Given the description of an element on the screen output the (x, y) to click on. 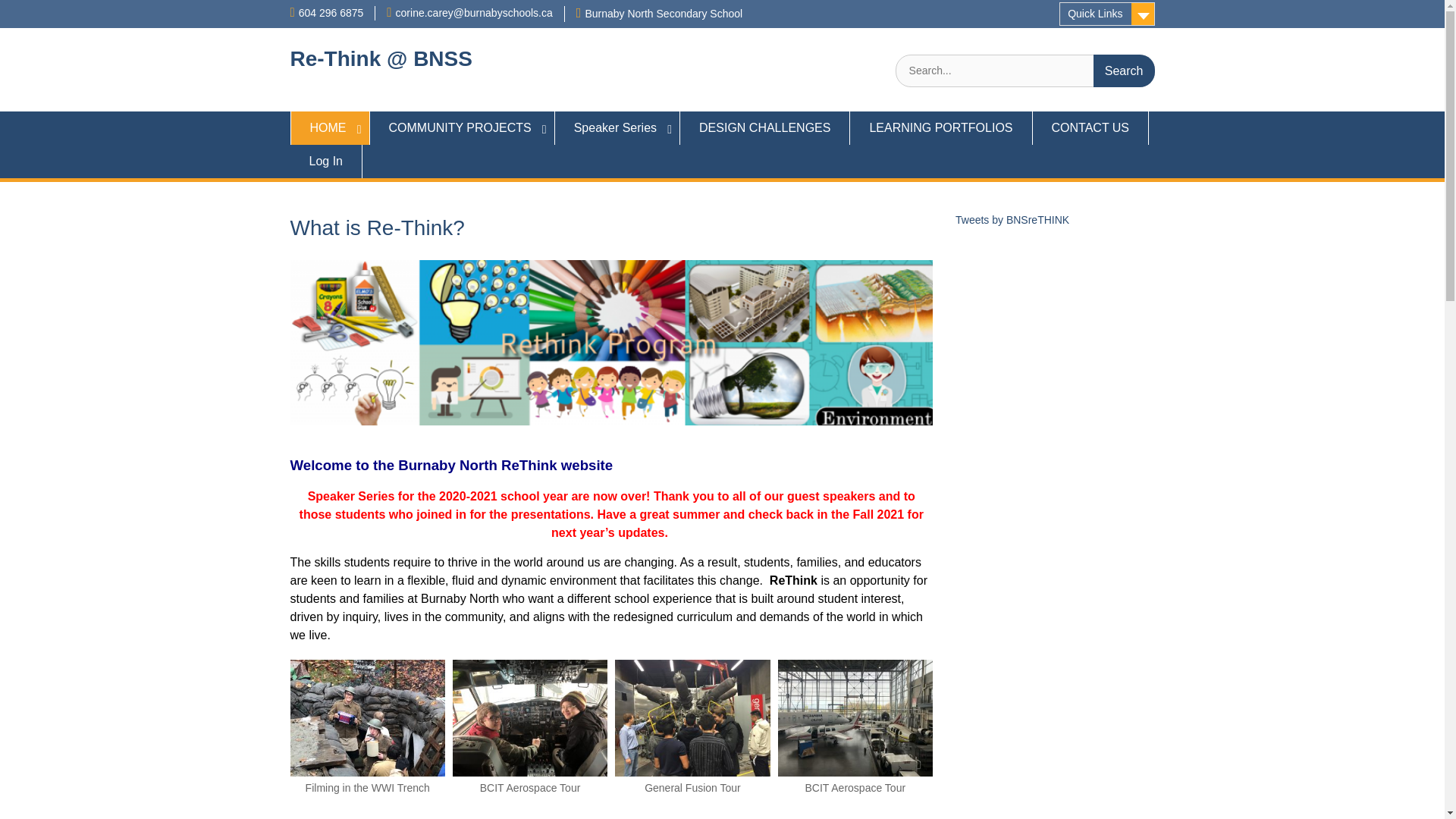
COMMUNITY PROJECTS (461, 127)
Search (1123, 70)
CONTACT US (1091, 127)
DESIGN CHALLENGES (764, 127)
Search (1123, 70)
Quick Links (1106, 13)
604 296 6875 (331, 12)
Speaker Series (616, 127)
LEARNING PORTFOLIOS (941, 127)
HOME (329, 127)
Log In (325, 161)
Search (1123, 70)
Search for: (1024, 70)
